Given the description of an element on the screen output the (x, y) to click on. 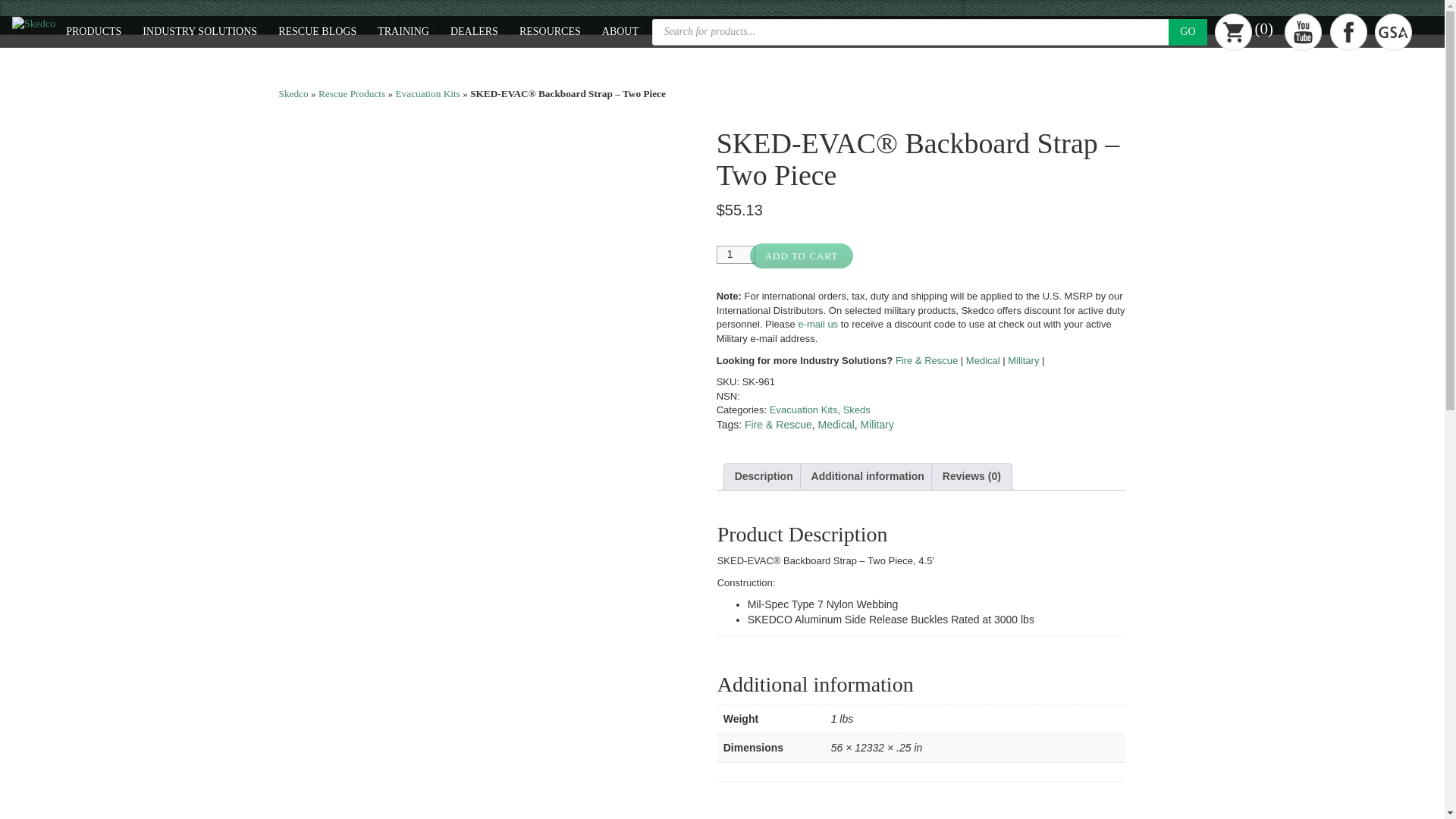
1 (735, 254)
RESCUE BLOGS (316, 31)
Skedco (293, 93)
TRAINING (402, 31)
View your shopping cart (1243, 31)
INDUSTRY SOLUTIONS (199, 31)
RESOURCES (549, 31)
Rescue Products (351, 93)
Qty (735, 254)
ABOUT (620, 31)
Rescue Blogs (316, 31)
Evacuation Kits (428, 93)
GO (1188, 31)
PRODUCTS (93, 31)
DEALERS (473, 31)
